Given the description of an element on the screen output the (x, y) to click on. 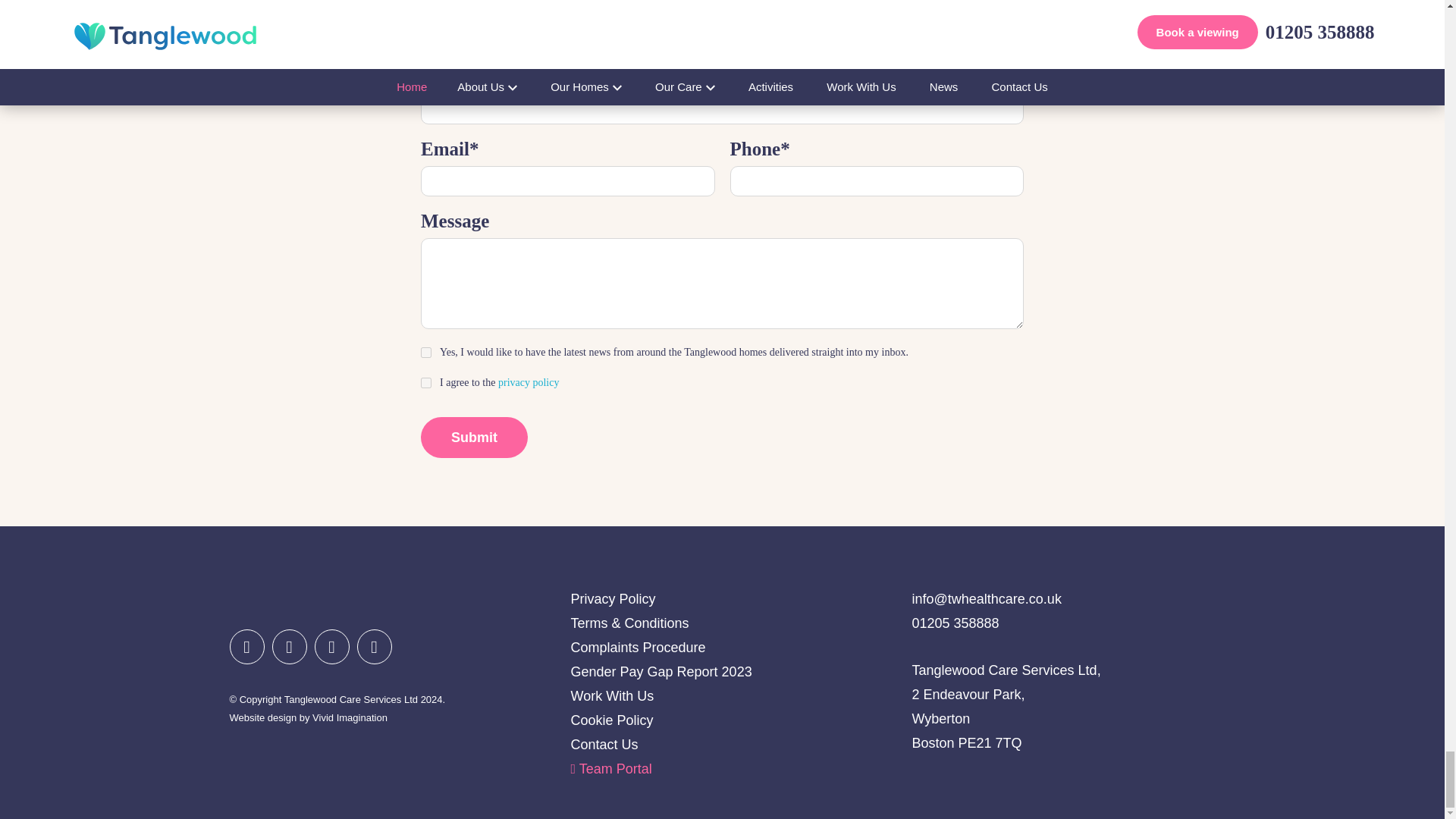
1 (425, 382)
Submit (473, 436)
